Given the description of an element on the screen output the (x, y) to click on. 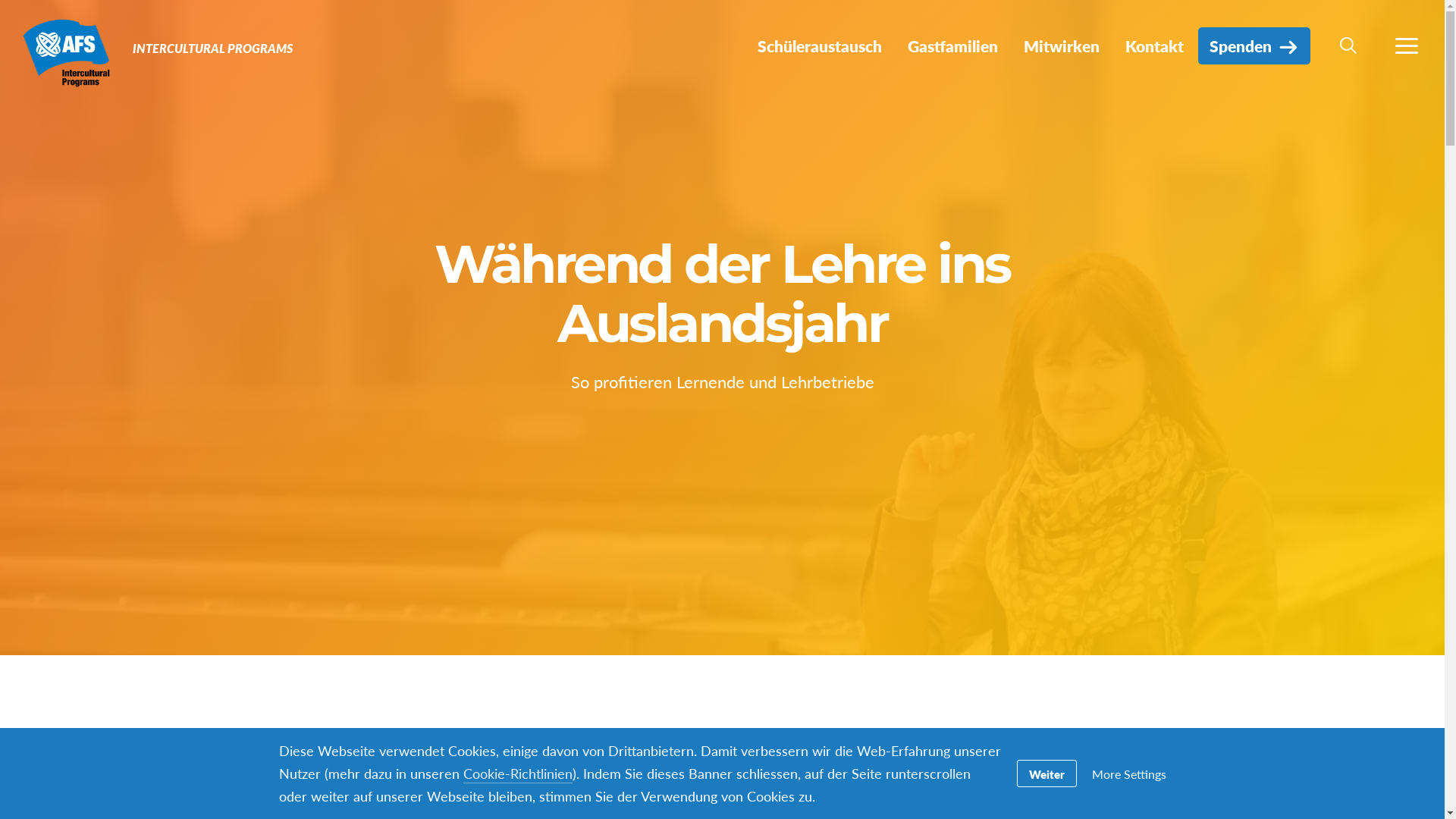
SUCHE Element type: text (1347, 45)
Intercultural Programs Element type: text (65, 51)
Cookie-Richtlinien Element type: text (516, 773)
Mitwirken Element type: text (1061, 45)
Weiter Element type: text (1046, 773)
Gastfamilien Element type: text (952, 45)
INTERCULTURAL PROGRAMS Element type: text (212, 47)
Spenden Element type: text (1254, 45)
More Settings Element type: text (1129, 772)
Kontakt Element type: text (1154, 45)
